Given the description of an element on the screen output the (x, y) to click on. 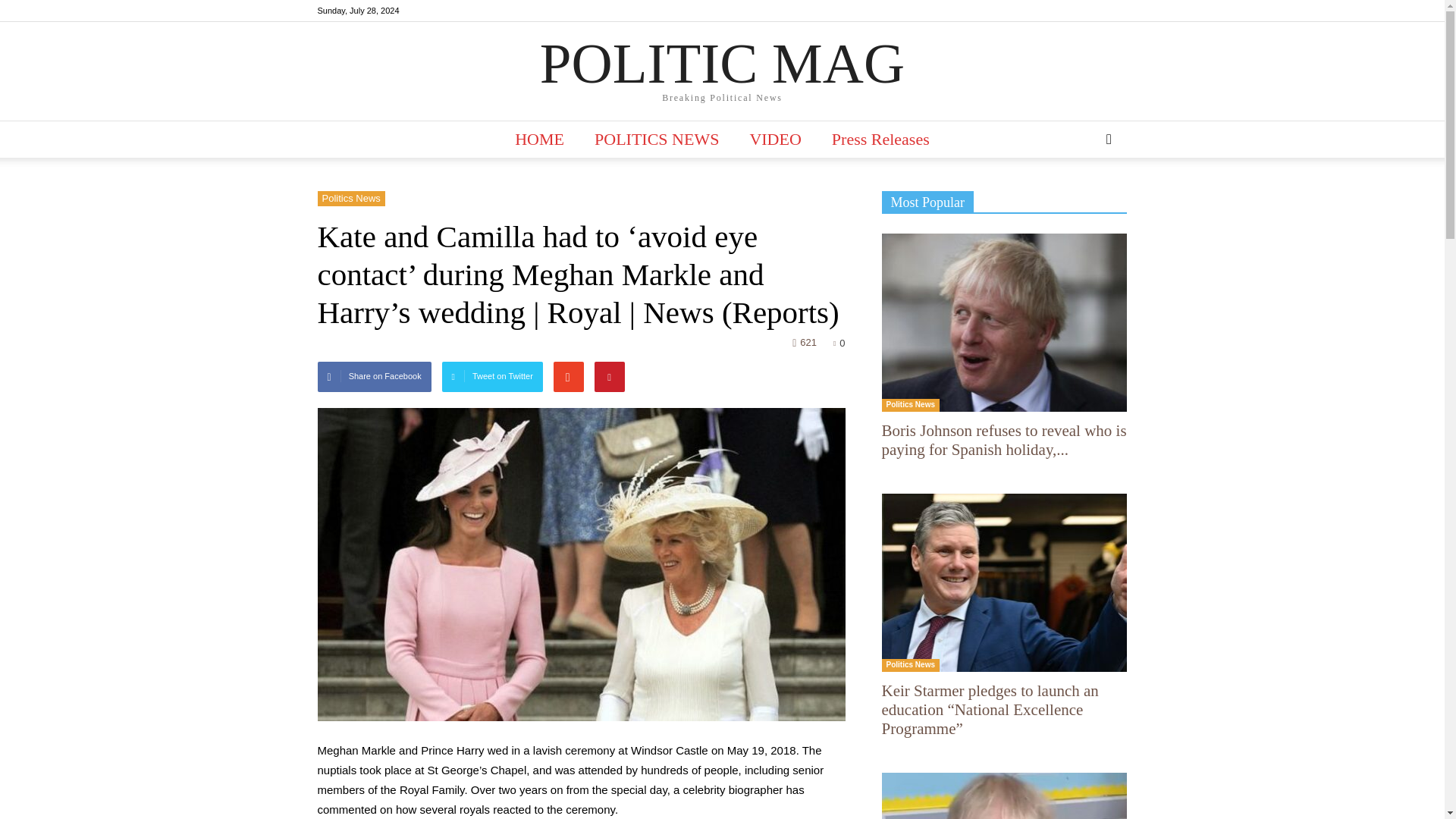
0 (838, 342)
HOME (539, 139)
Tweet on Twitter (492, 376)
Politics News (350, 198)
Share on Facebook (373, 376)
Press Releases (880, 139)
VIDEO (774, 139)
POLITIC MAG Breaking Political News (722, 72)
POLITICS NEWS (656, 139)
